Given the description of an element on the screen output the (x, y) to click on. 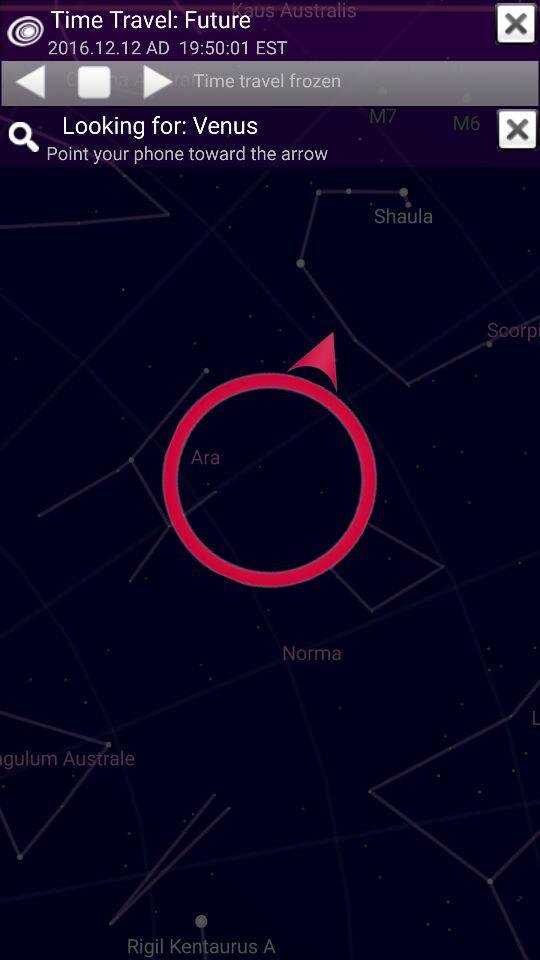
exit the advertisement (516, 24)
